Given the description of an element on the screen output the (x, y) to click on. 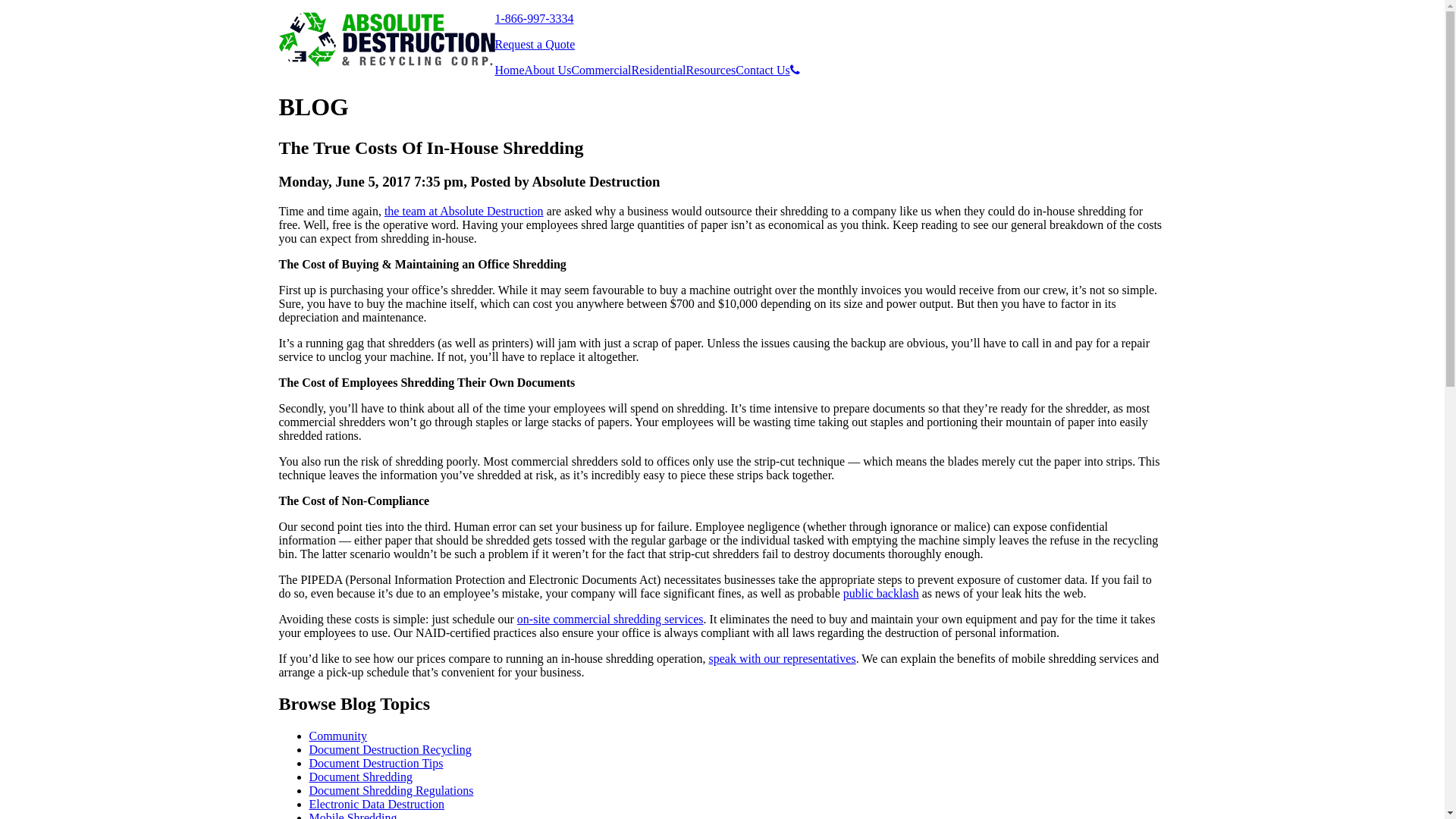
Document Destruction Tips Element type: text (376, 762)
Commercial Element type: text (600, 70)
on-site commercial shredding services Element type: text (610, 618)
Home Element type: text (509, 70)
Electronic Data Destruction Element type: text (377, 803)
About Us Element type: text (547, 70)
Request a Quote Element type: text (534, 43)
the team at Absolute Destruction Element type: text (463, 210)
speak with our representatives Element type: text (781, 658)
Resources Element type: text (710, 70)
Community Element type: text (338, 735)
Document Shredding Element type: text (360, 776)
public backlash Element type: text (881, 592)
1-866-997-3334 Element type: text (533, 18)
Residential Element type: text (657, 70)
Document Destruction Recycling Element type: text (390, 749)
Document Shredding Regulations Element type: text (391, 790)
Contact Us Element type: text (762, 70)
